Given the description of an element on the screen output the (x, y) to click on. 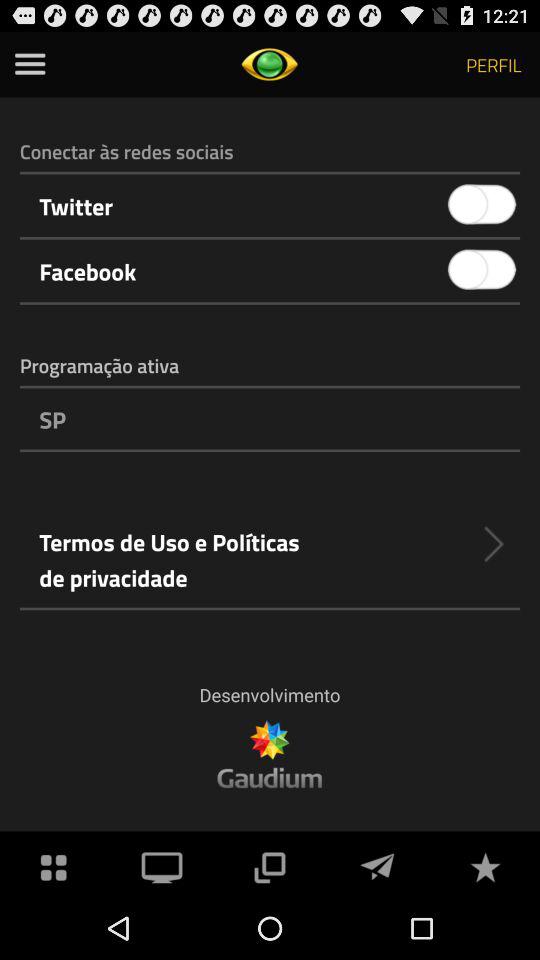
turn on icon to the right of the facebook item (482, 270)
